Given the description of an element on the screen output the (x, y) to click on. 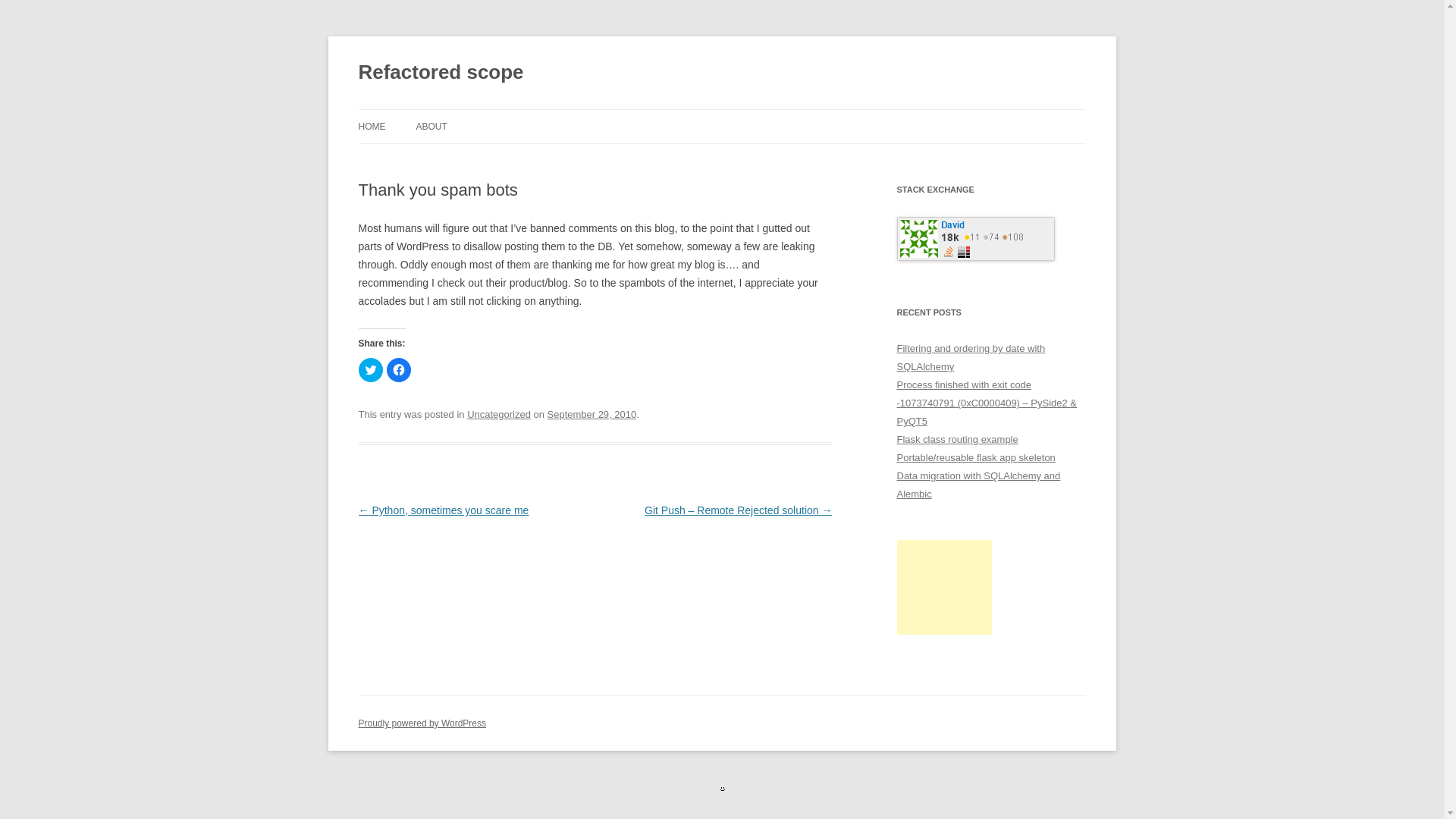
Data migration with SQLAlchemy and Alembic (977, 484)
Click to share on Twitter (369, 369)
Filtering and ordering by date with SQLAlchemy (970, 357)
Proudly powered by WordPress (422, 723)
Semantic Personal Publishing Platform (422, 723)
9:14 am (592, 414)
Flask class routing example (956, 439)
Uncategorized (499, 414)
Refactored scope (440, 72)
Refactored scope (440, 72)
Click to share on Facebook (398, 369)
ABOUT (430, 126)
September 29, 2010 (592, 414)
